Given the description of an element on the screen output the (x, y) to click on. 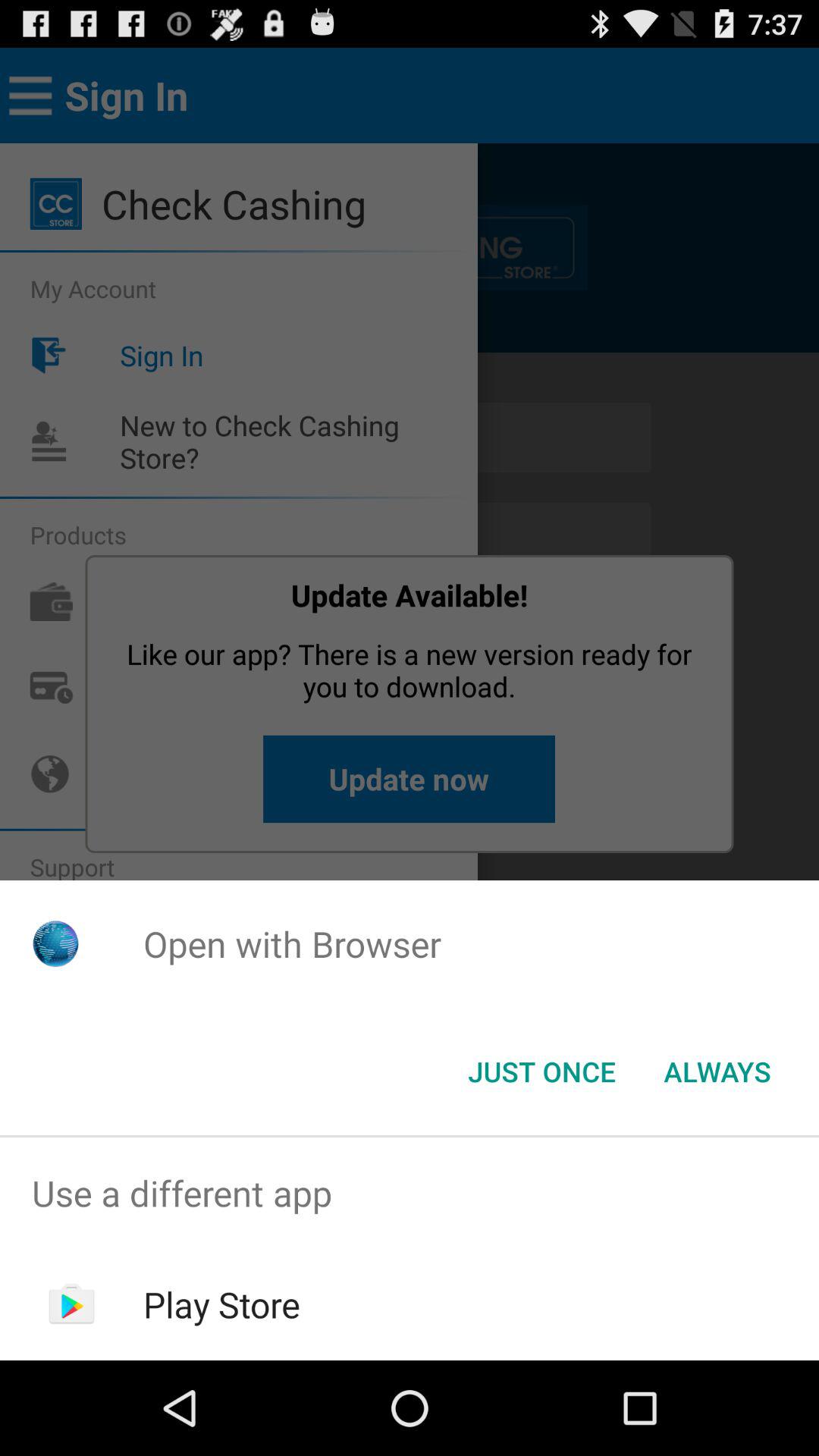
launch icon next to always item (541, 1071)
